Given the description of an element on the screen output the (x, y) to click on. 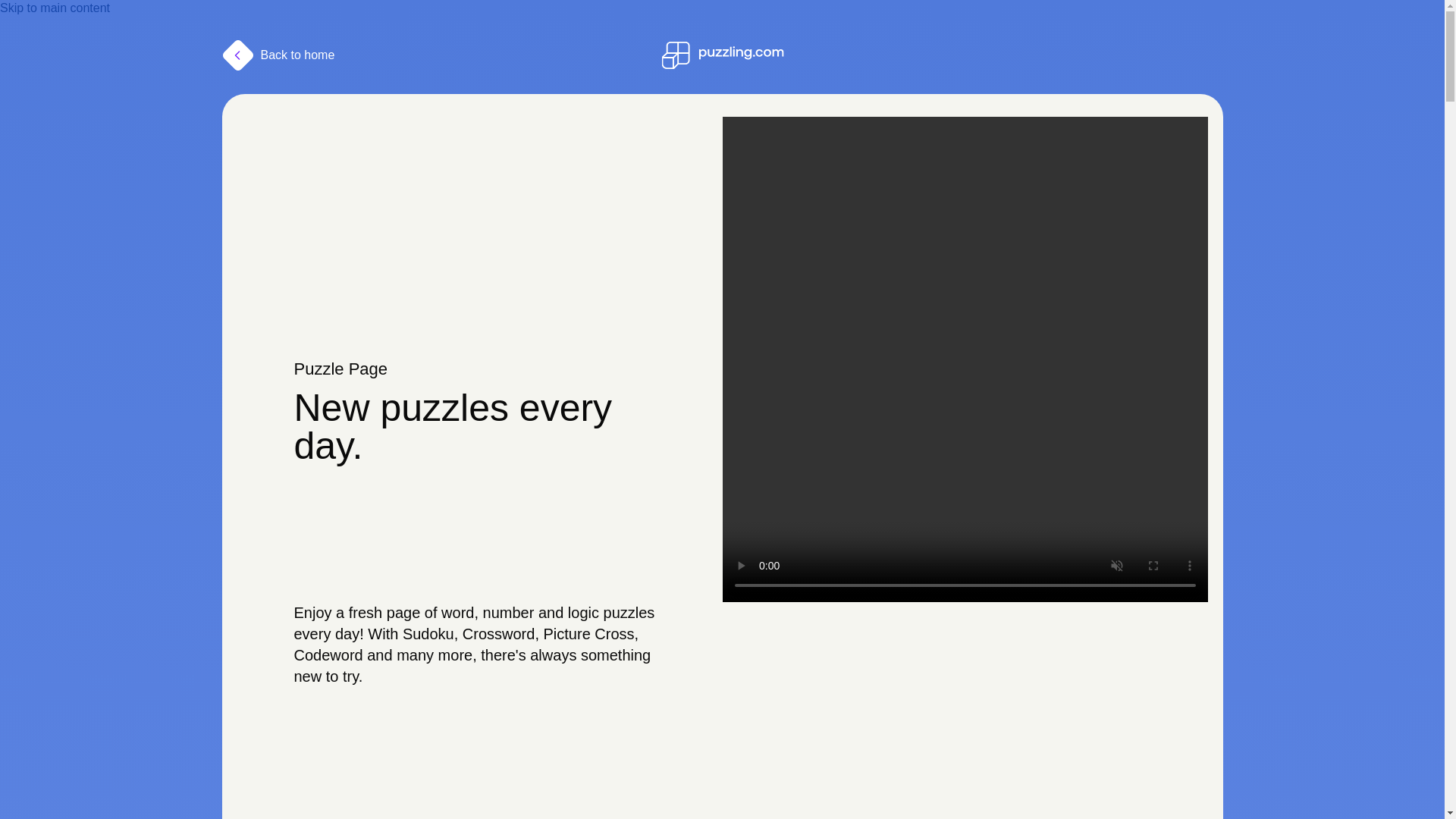
Back to home (277, 55)
puzzling.com Logo (722, 54)
puzzling.com (722, 54)
Skip to main content (55, 7)
Skip to main content (55, 7)
